Given the description of an element on the screen output the (x, y) to click on. 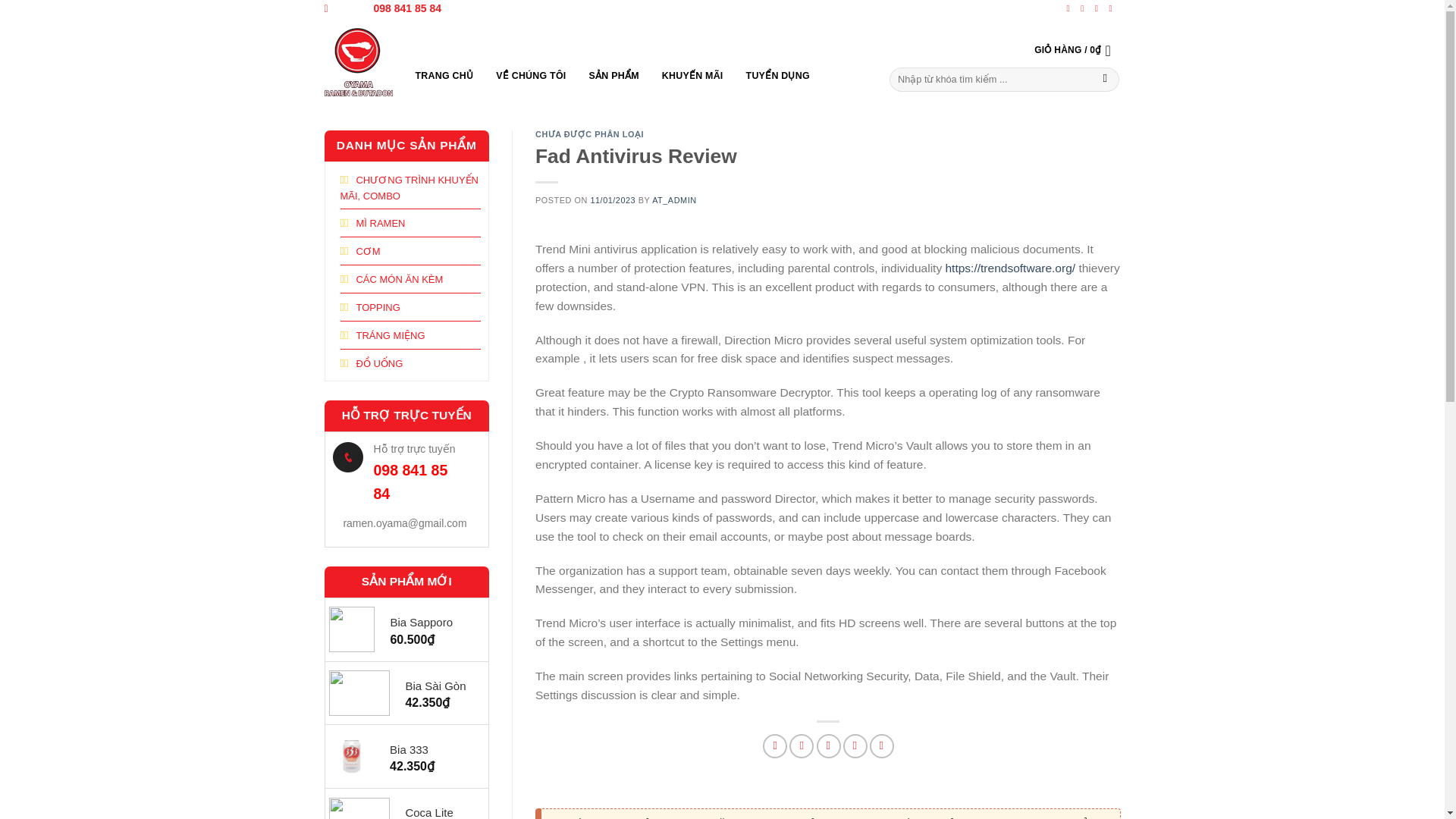
Coca Lite (437, 811)
Bia 333 (430, 750)
Send us an email (1113, 8)
Bia Sapporo (430, 622)
Email to a Friend (828, 745)
Share on Twitter (801, 745)
TOPPING (368, 307)
Share on Facebook (774, 745)
Follow on Twitter (1098, 8)
Follow on Facebook (1071, 8)
Pin on Pinterest (855, 745)
Share on LinkedIn (881, 745)
Follow on Instagram (1084, 8)
